Given the description of an element on the screen output the (x, y) to click on. 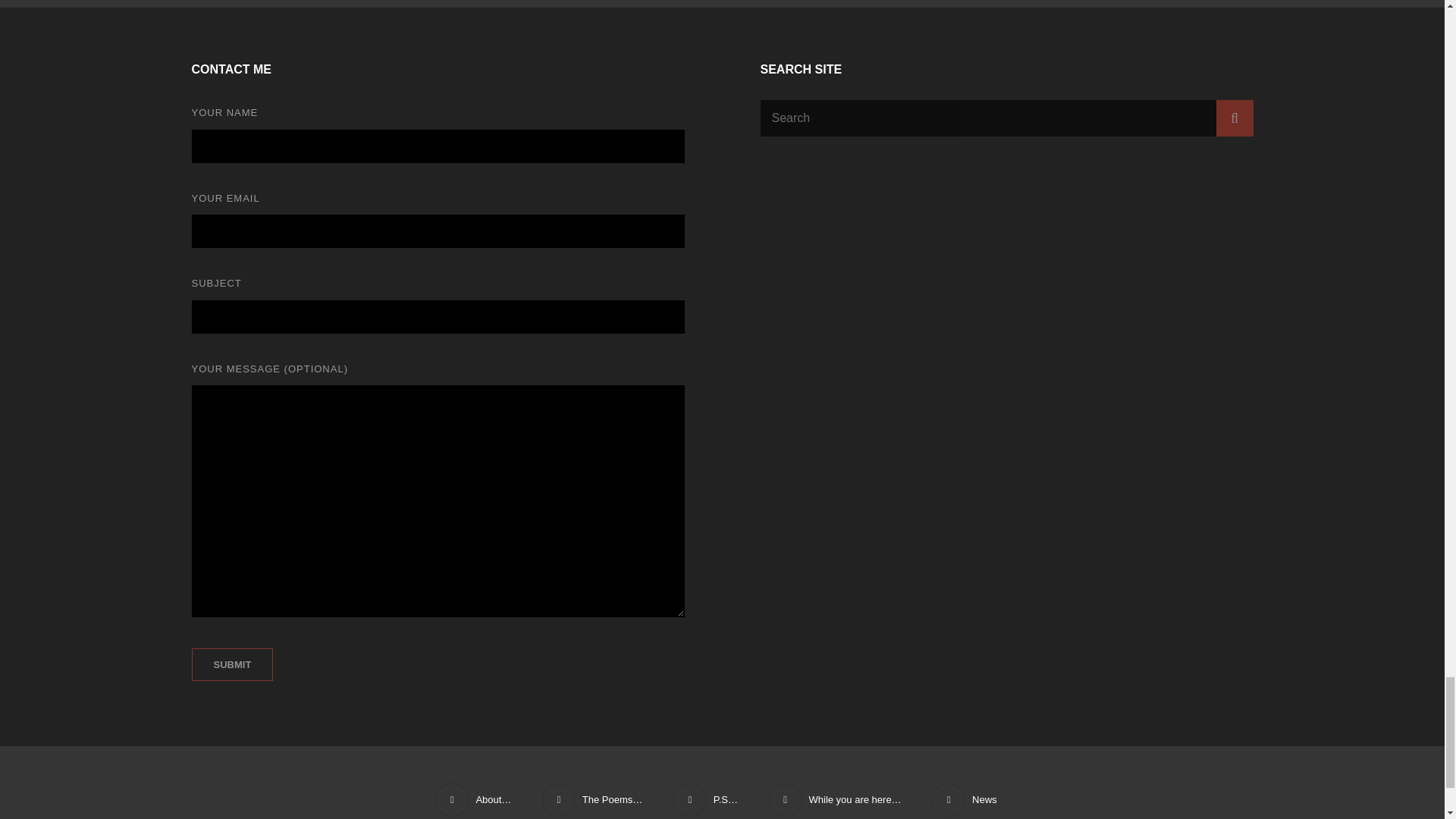
Submit (231, 664)
Search (1234, 117)
News (964, 798)
Submit (231, 664)
